Given the description of an element on the screen output the (x, y) to click on. 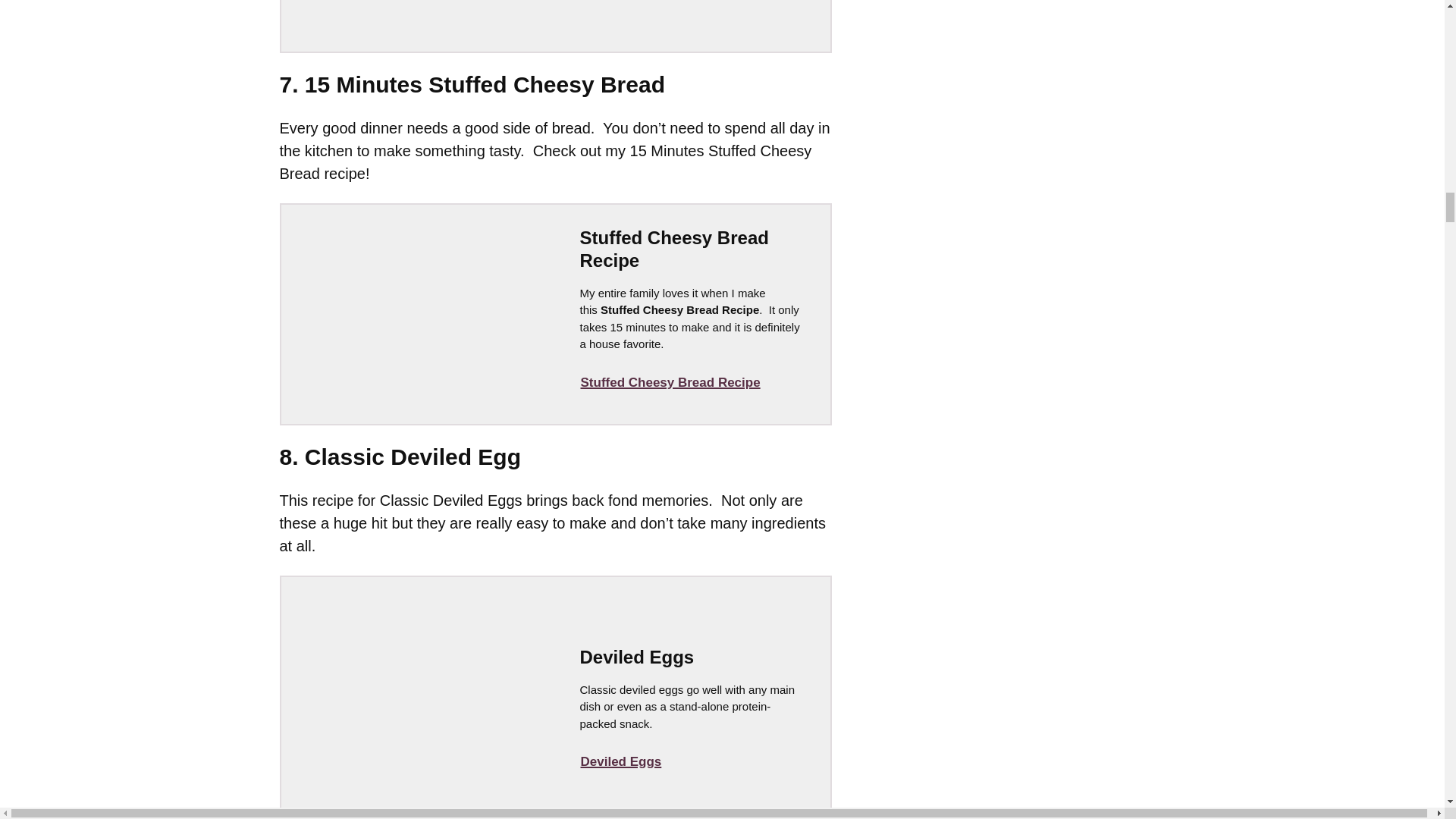
Deviled Eggs (620, 761)
Stuffed Cheesy Bread Recipe (669, 382)
